Given the description of an element on the screen output the (x, y) to click on. 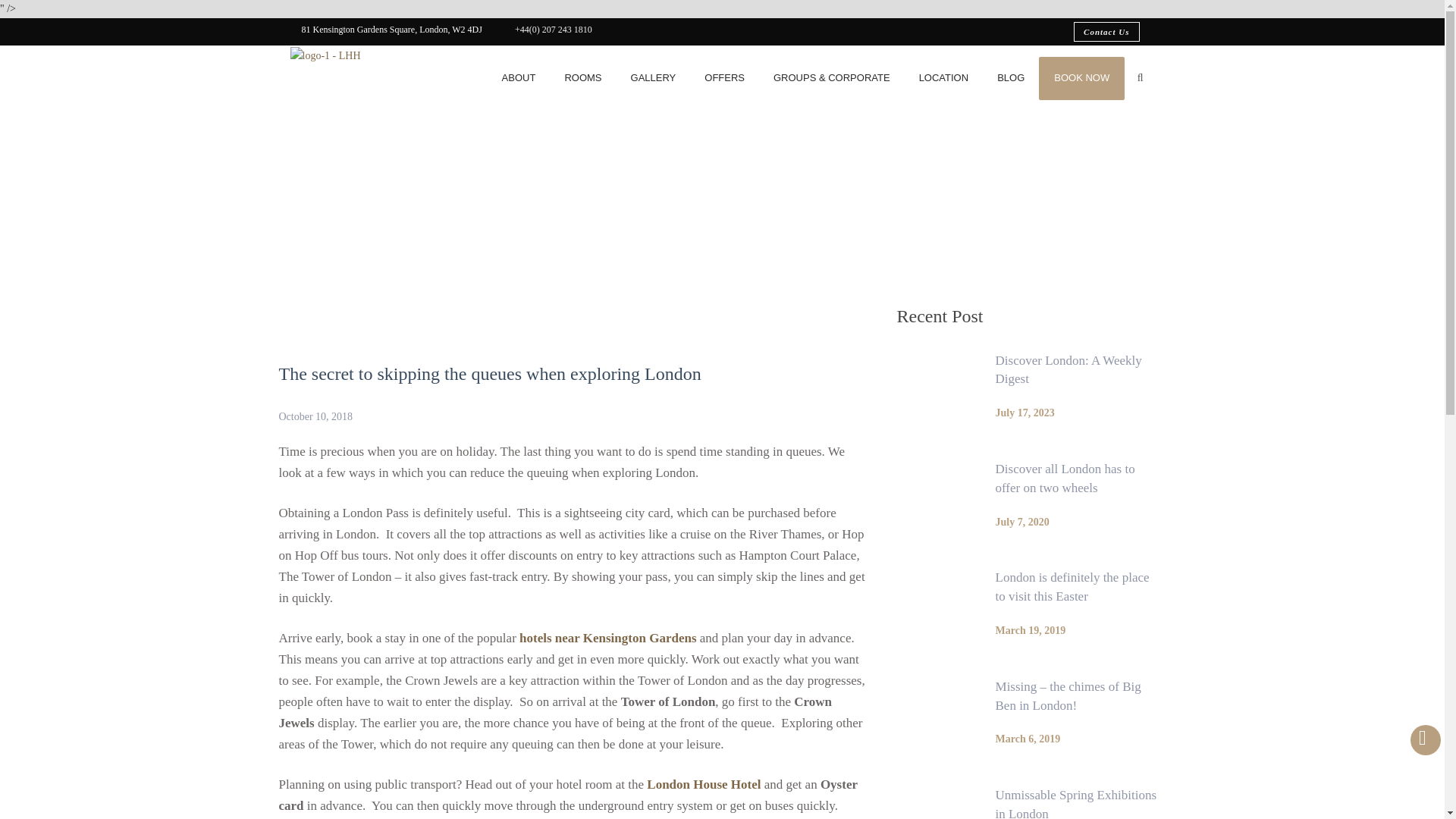
ABOUT (518, 86)
Contact Us (1106, 32)
ROOMS (582, 86)
